Given the description of an element on the screen output the (x, y) to click on. 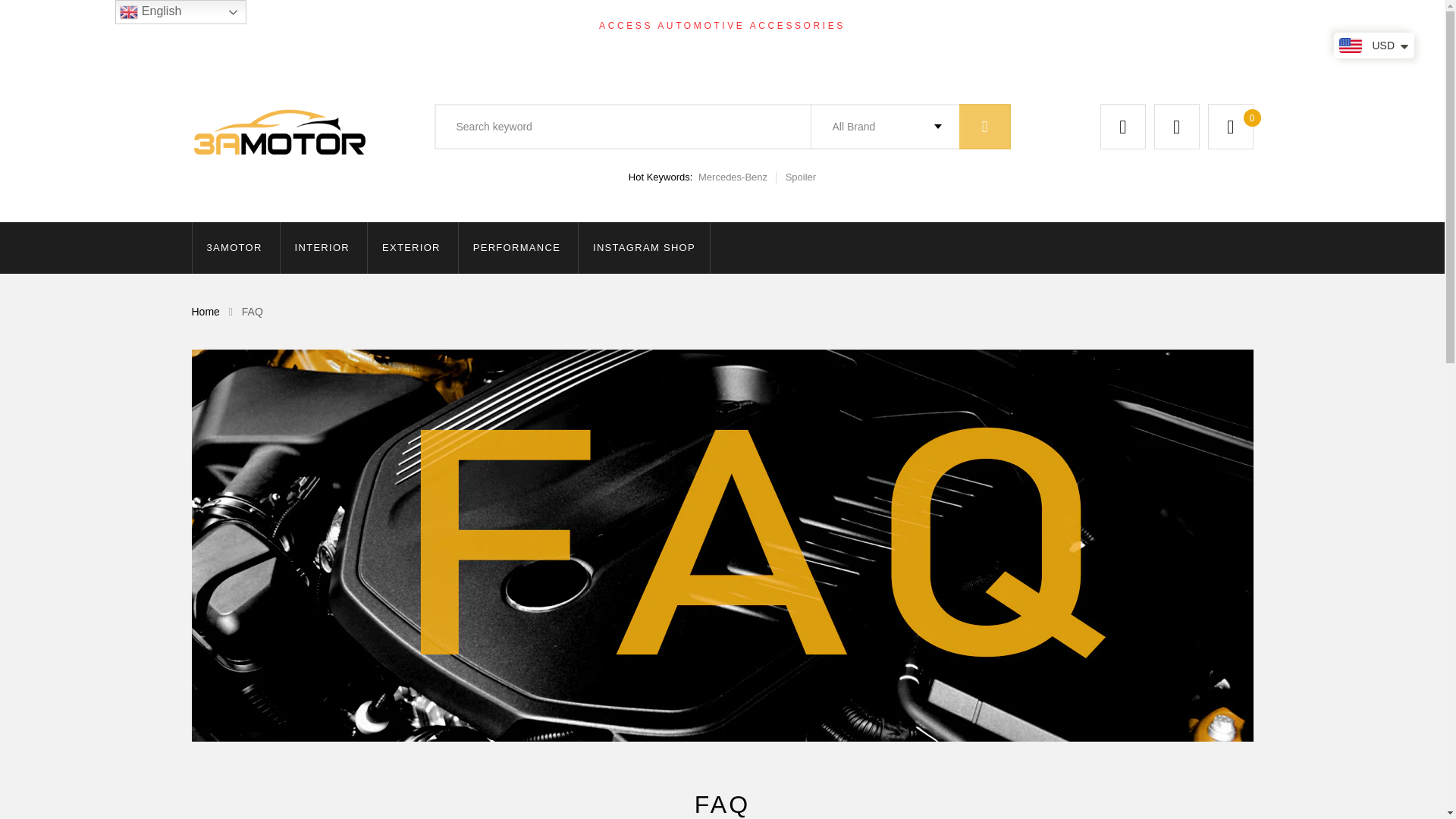
Back to the frontpage (204, 311)
